Given the description of an element on the screen output the (x, y) to click on. 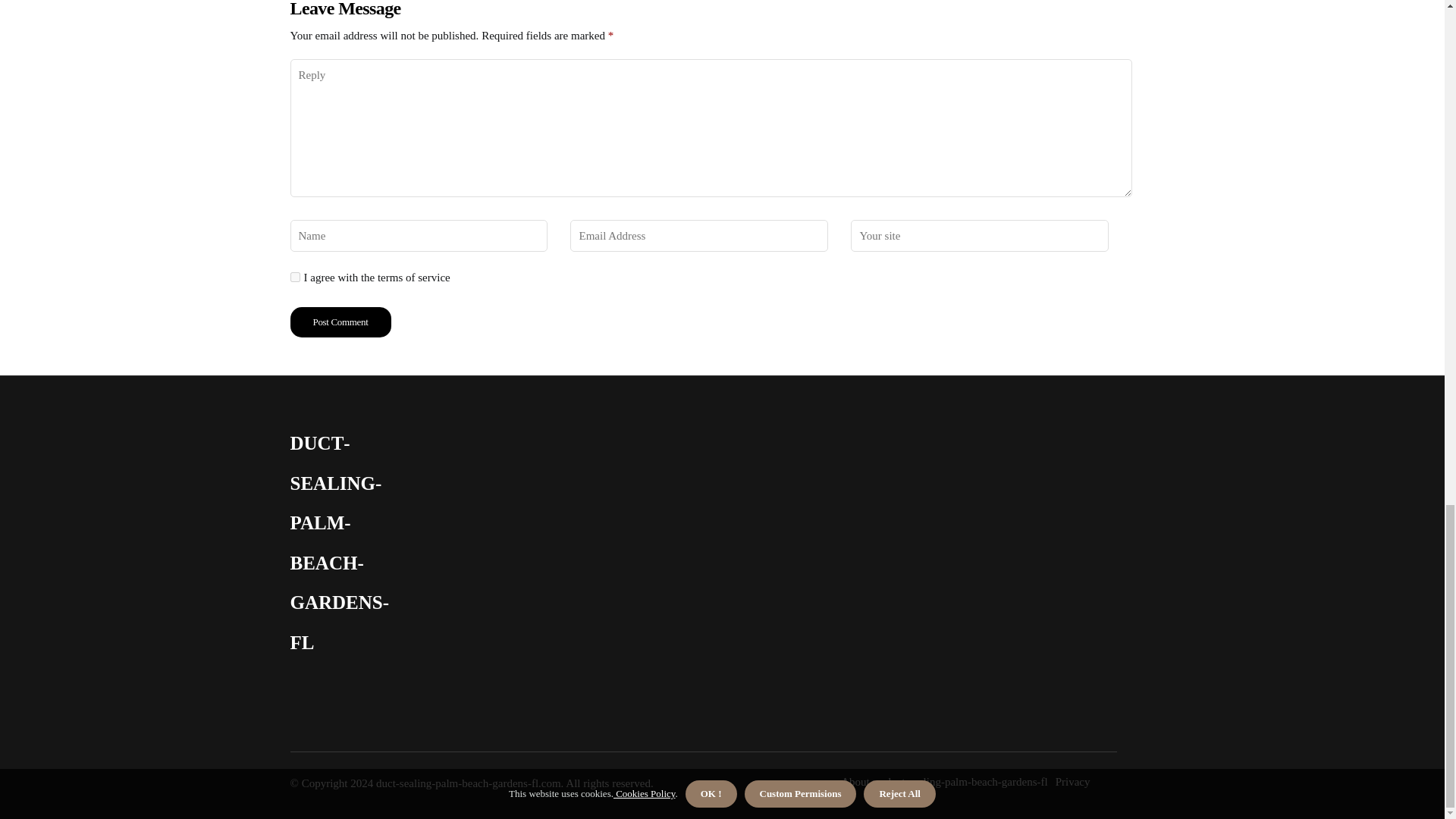
Post Comment (339, 322)
yes (294, 276)
Post Comment (339, 322)
